Given the description of an element on the screen output the (x, y) to click on. 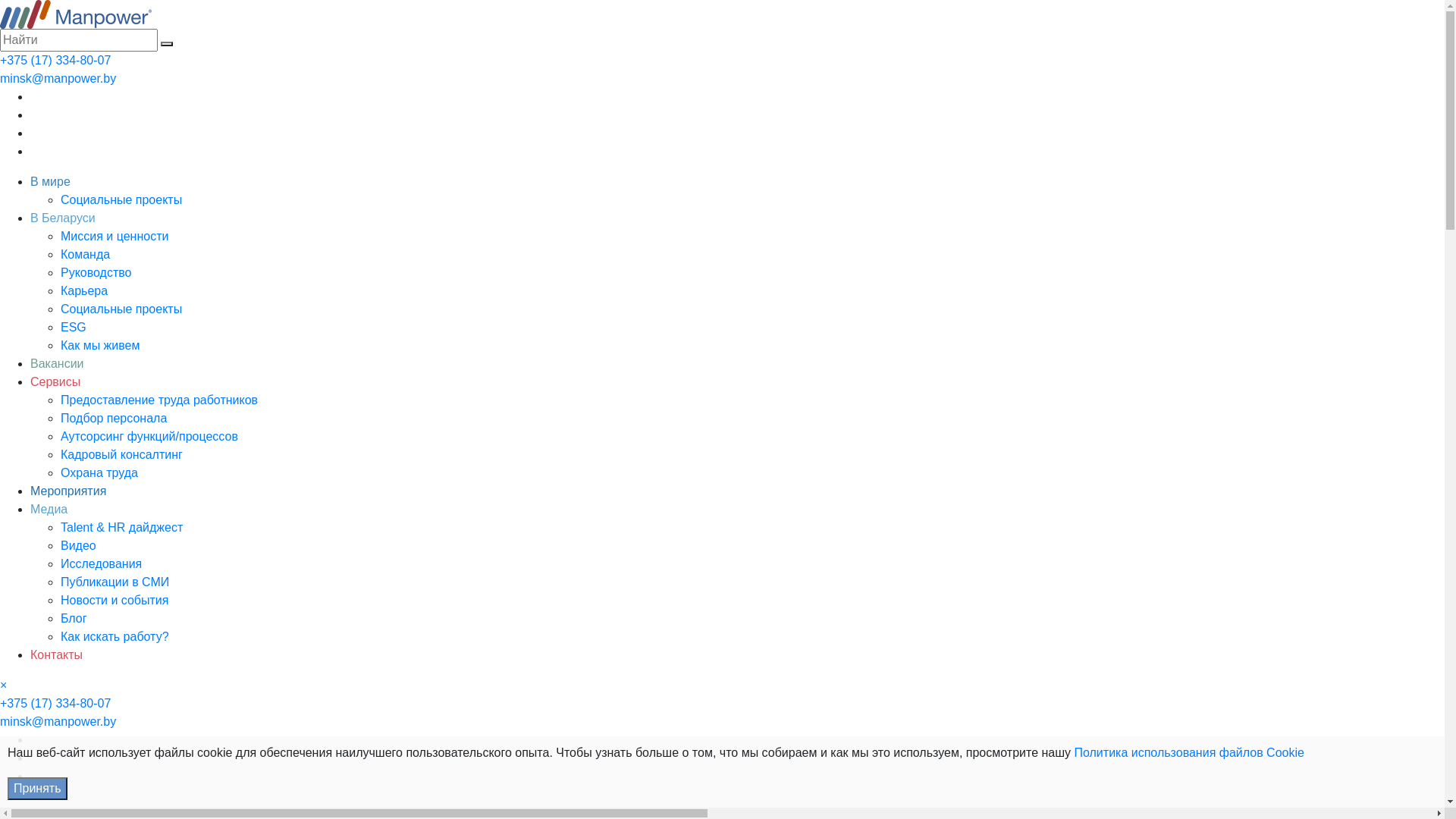
minsk@manpower.by Element type: text (58, 78)
minsk@manpower.by Element type: text (58, 721)
+375 (17) 334-80-07 Element type: text (55, 59)
ESG Element type: text (73, 326)
+375 (17) 334-80-07 Element type: text (55, 702)
